Given the description of an element on the screen output the (x, y) to click on. 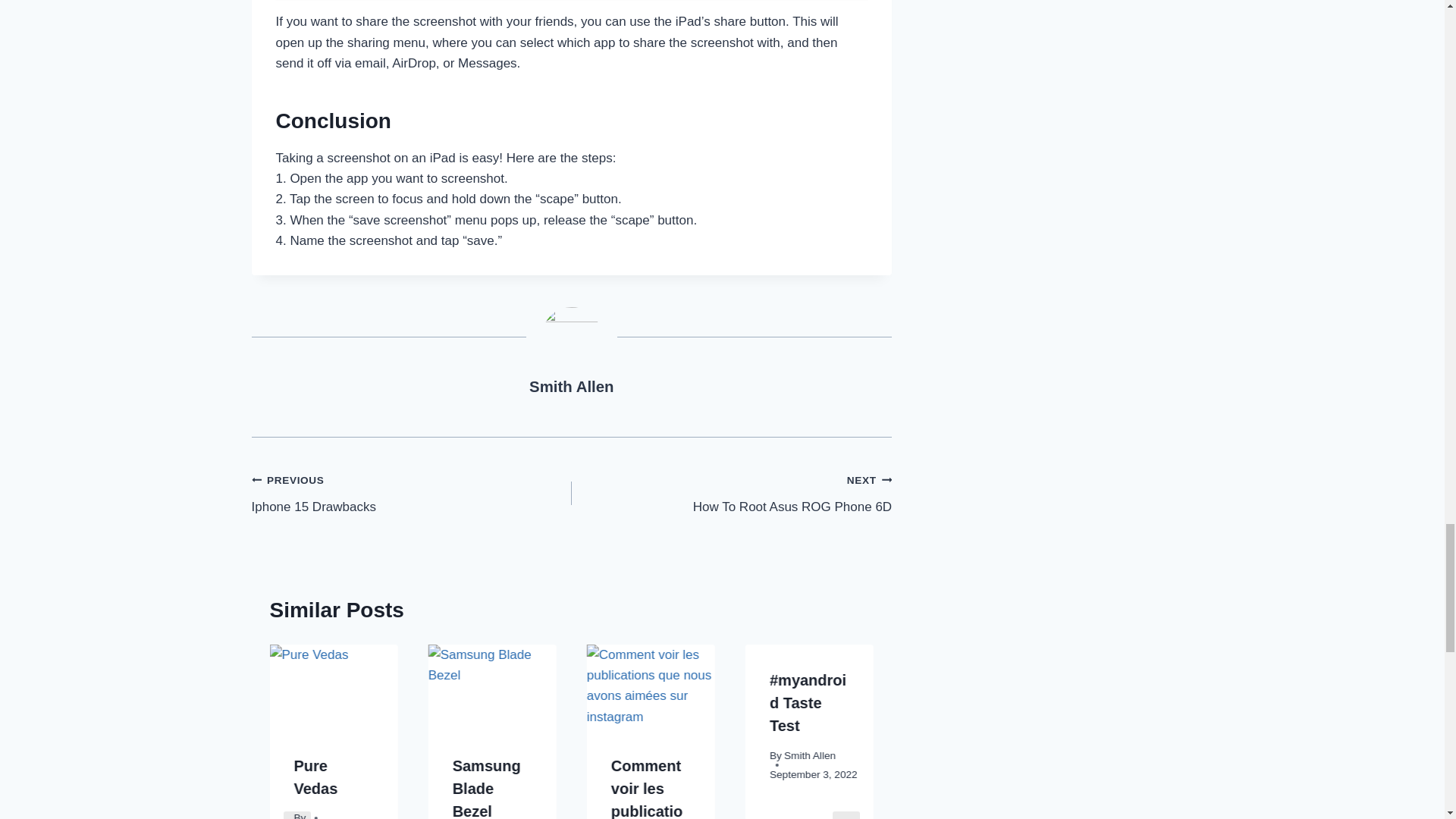
Samsung Blade Bezel (492, 687)
Posts by Smith Allen (731, 492)
Pure Vedas (570, 386)
Smith Allen (333, 687)
